Given the description of an element on the screen output the (x, y) to click on. 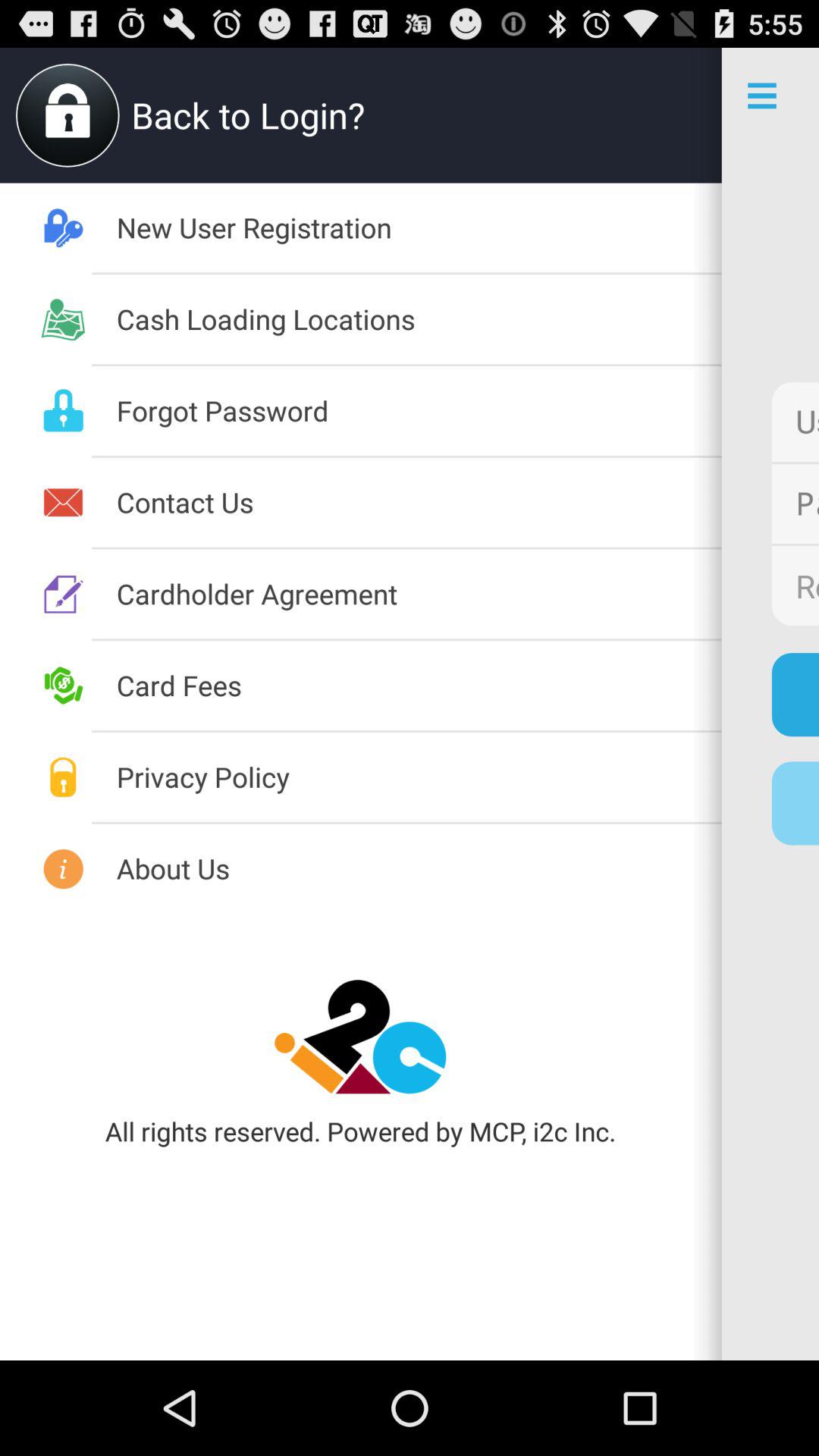
open the card fees item (418, 685)
